Given the description of an element on the screen output the (x, y) to click on. 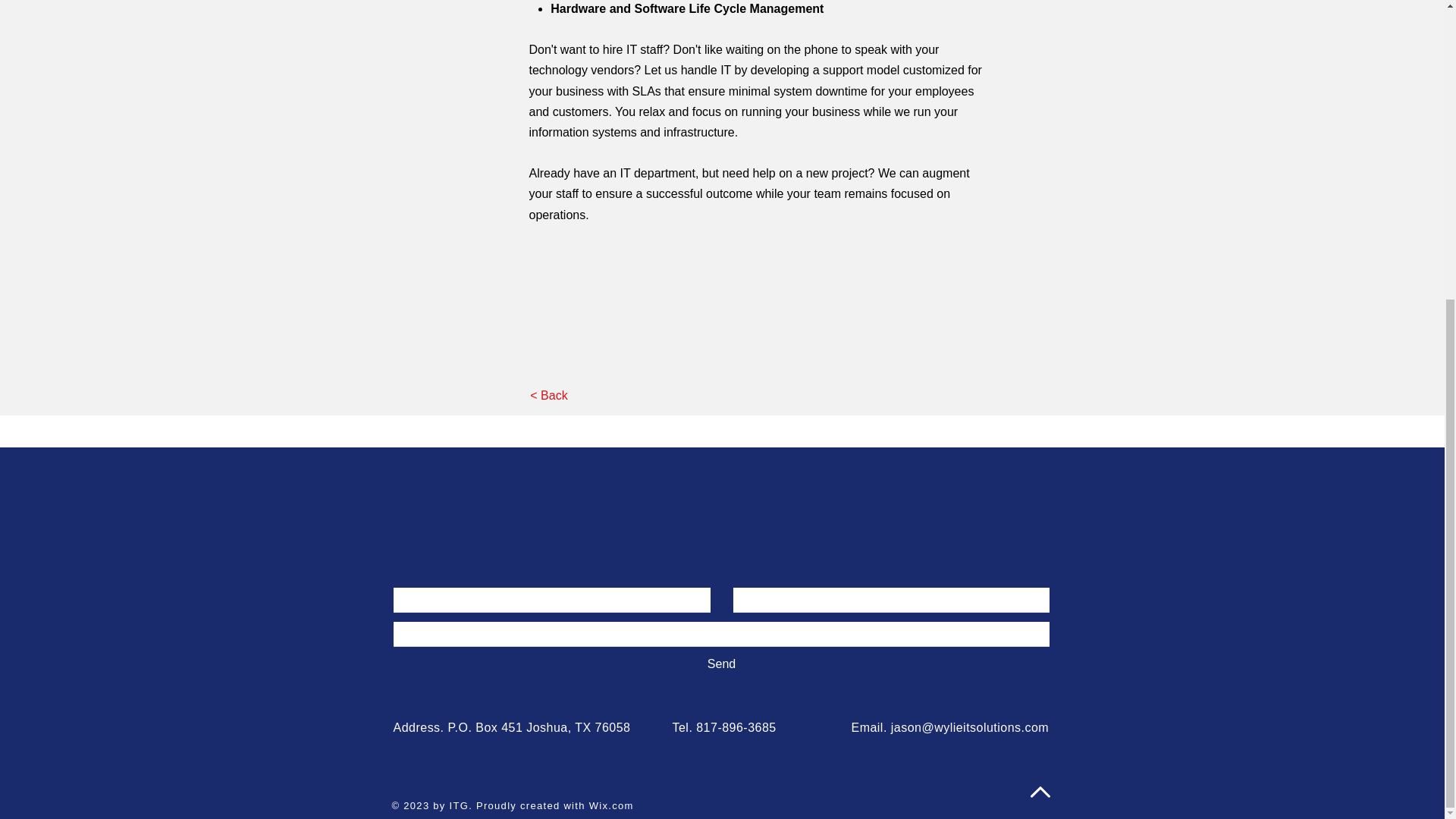
Wix.com (611, 805)
Send (720, 664)
